Given the description of an element on the screen output the (x, y) to click on. 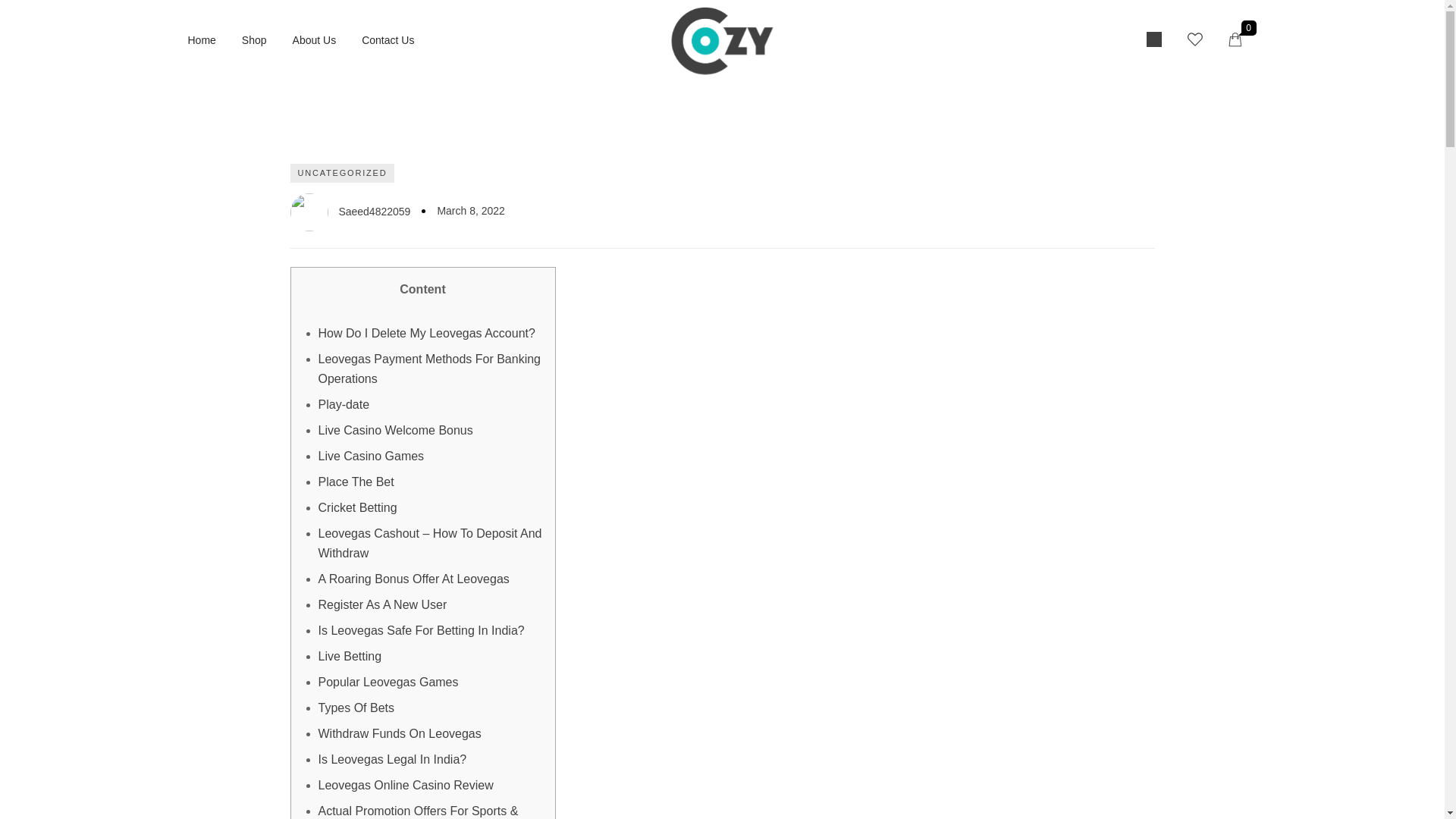
Cricket Betting (357, 507)
Place The Bet (356, 481)
Live Betting (349, 656)
Popular Leovegas Games (388, 681)
UNCATEGORIZED (341, 172)
March 8, 2022 (470, 211)
Live Casino Welcome Bonus (395, 430)
Play-date (343, 404)
A Roaring Bonus Offer At Leovegas (413, 578)
Is Leovegas Safe For Betting In India? (421, 630)
Live Casino Games (371, 455)
0 (1242, 40)
Register As A New User (382, 604)
Leovegas Payment Methods For Banking Operations (429, 368)
Saeed4822059 (349, 211)
